Given the description of an element on the screen output the (x, y) to click on. 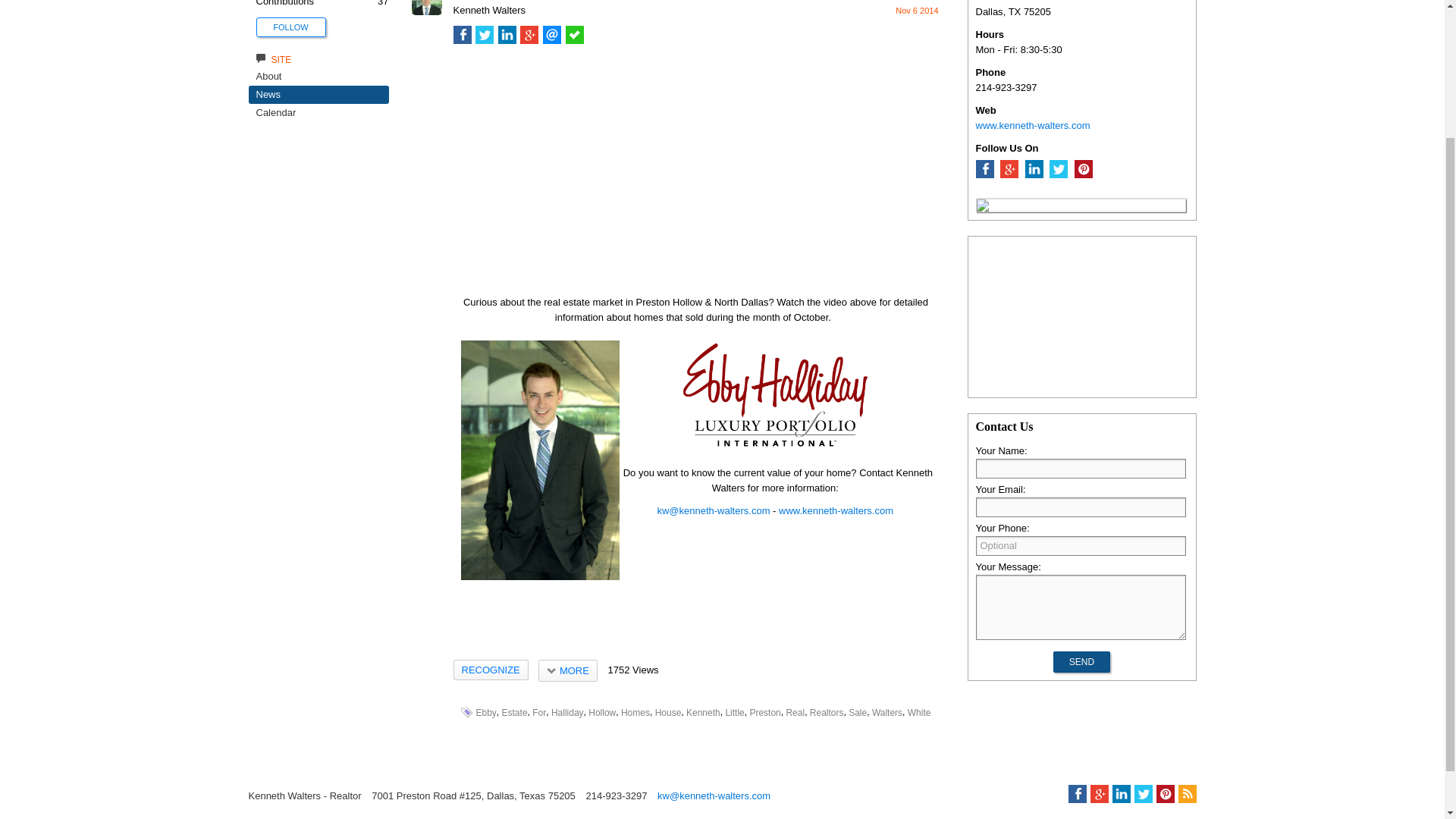
Halliday (567, 712)
Send (1080, 661)
Ebby (486, 712)
Homes (635, 712)
Estate (514, 712)
MORE (567, 670)
View profile (425, 11)
RECOGNIZE (490, 670)
Hollow (601, 712)
View profile (488, 9)
www.kenneth-walters.com (835, 510)
For (539, 712)
Kenneth Walters (488, 9)
